Given the description of an element on the screen output the (x, y) to click on. 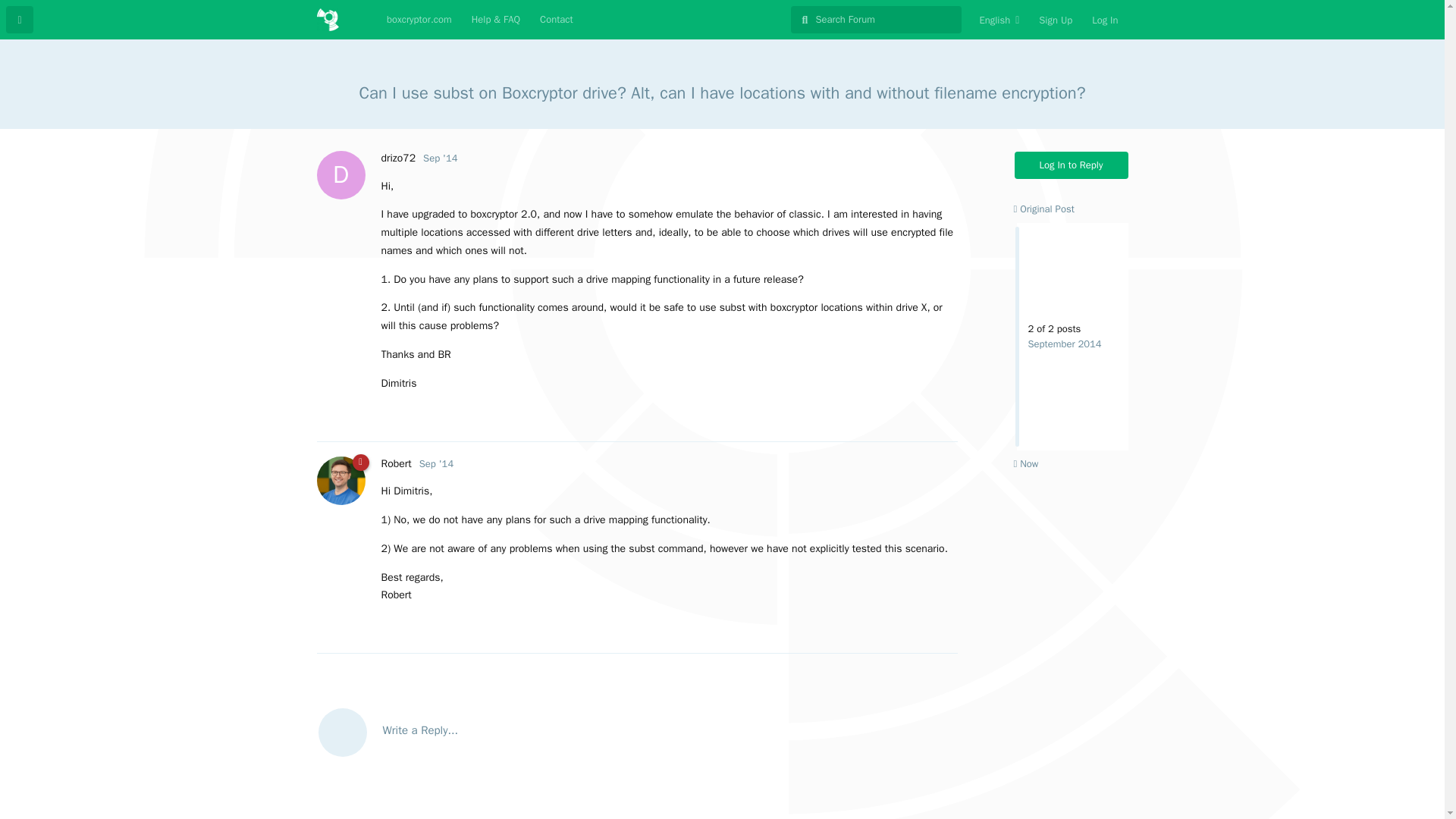
Tuesday, September 2, 2014 1:51 AM (435, 463)
English (999, 19)
Original Post (1043, 208)
Sep '14 (440, 157)
Log In (1103, 19)
boxcryptor.com (419, 19)
Now (1025, 462)
Log In (1103, 19)
Sep '14 (435, 463)
Sign Up (1055, 19)
